Given the description of an element on the screen output the (x, y) to click on. 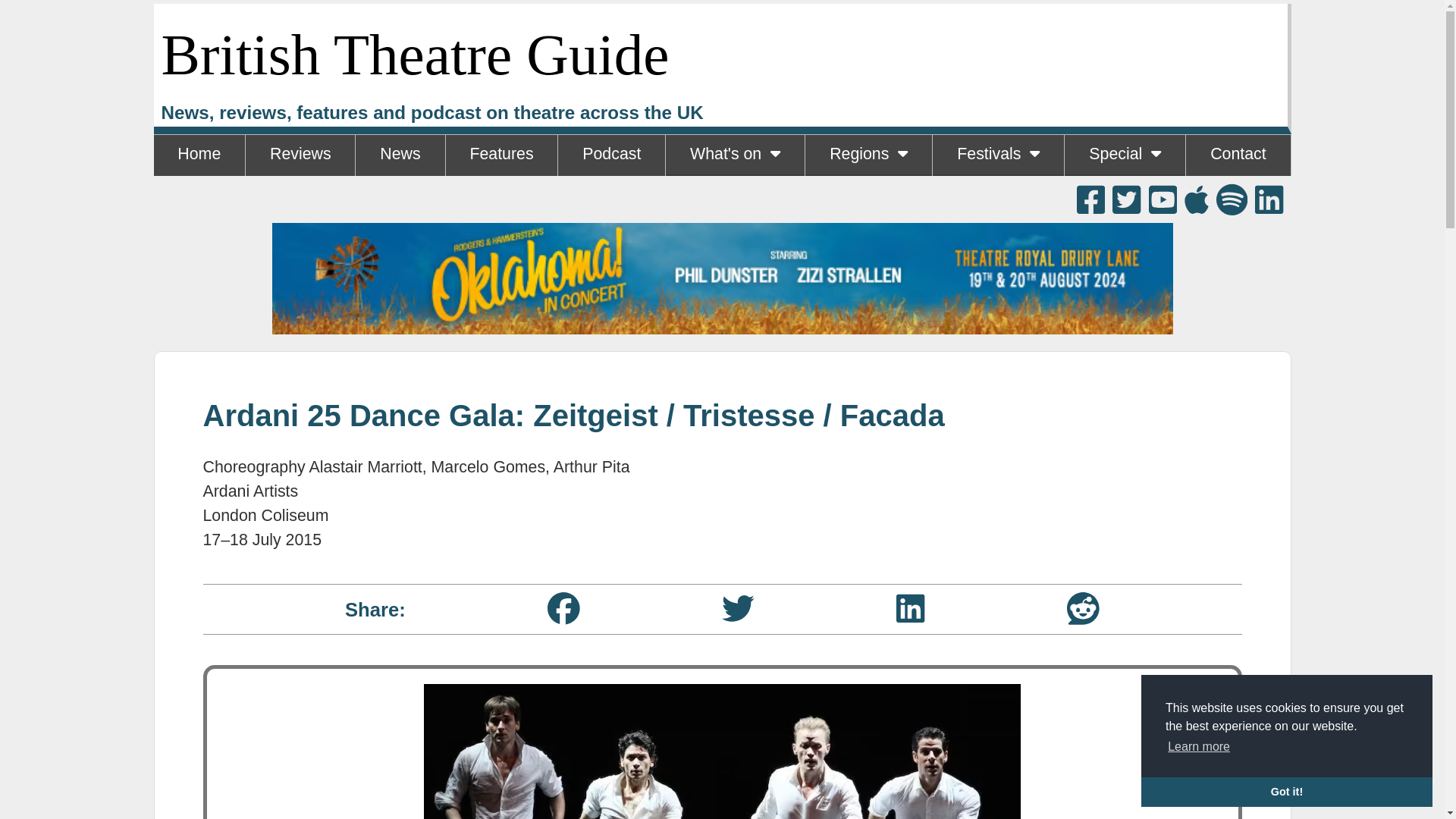
Reddit (1083, 608)
News (399, 154)
British Theatre Guide (414, 54)
Regions   (868, 155)
What's on   (735, 155)
Facebook (563, 608)
North West (868, 196)
Podcast (611, 154)
Festivals   (998, 155)
Edinburgh (997, 196)
